Given the description of an element on the screen output the (x, y) to click on. 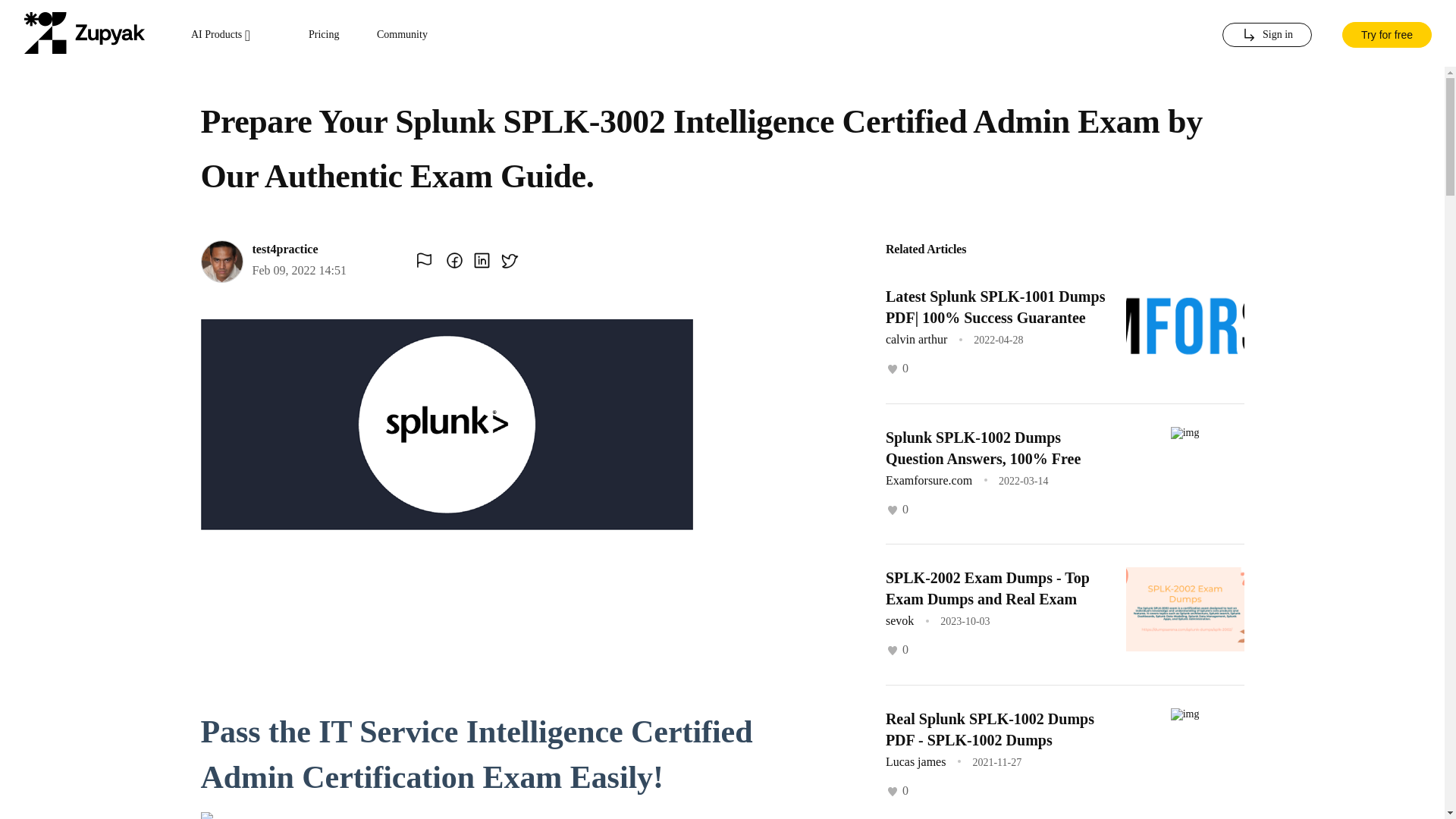
Community (402, 34)
 Real Splunk SPLK-1002 Dumps PDF - SPLK-1002 Dumps (989, 728)
Try for free (1386, 33)
 Sign in (1267, 34)
Pricing (323, 34)
